Given the description of an element on the screen output the (x, y) to click on. 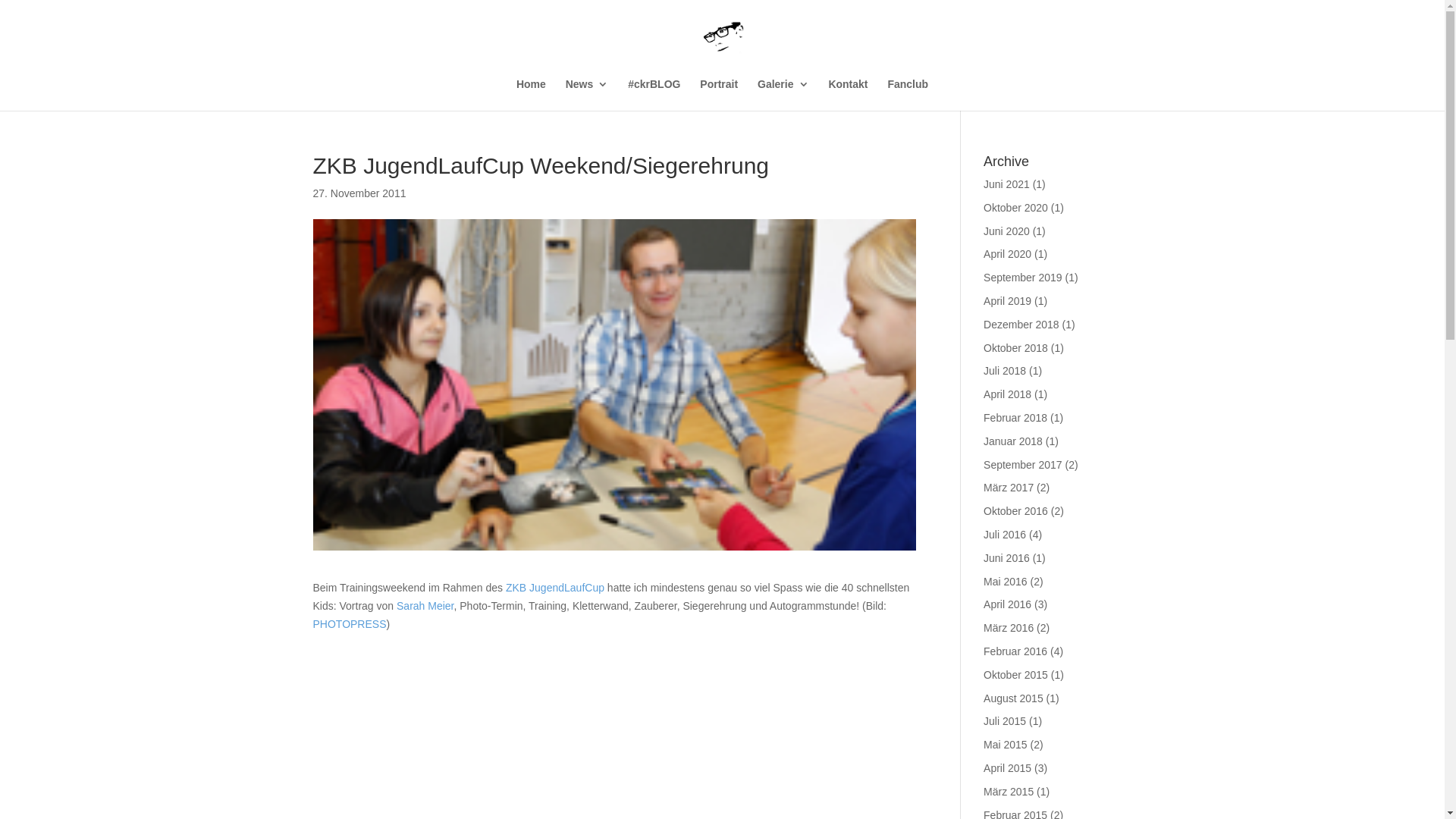
April 2020 Element type: text (1007, 253)
September 2017 Element type: text (1022, 464)
Januar 2018 Element type: text (1012, 441)
Oktober 2015 Element type: text (1015, 674)
News Element type: text (586, 94)
Kontakt Element type: text (847, 94)
April 2018 Element type: text (1007, 394)
Mai 2015 Element type: text (1005, 744)
Galerie Element type: text (782, 94)
April 2019 Element type: text (1007, 300)
Fanclub Element type: text (907, 94)
Oktober 2018 Element type: text (1015, 348)
PHOTOPRESS Element type: text (348, 624)
Dezember 2018 Element type: text (1021, 324)
Home Element type: text (531, 94)
ZKB JugendLaufCup Element type: text (554, 587)
#ckrBLOG Element type: text (653, 94)
Februar 2016 Element type: text (1015, 651)
Portrait Element type: text (718, 94)
Oktober 2020 Element type: text (1015, 207)
Juli 2016 Element type: text (1004, 534)
April 2016 Element type: text (1007, 604)
Juli 2018 Element type: text (1004, 370)
August 2015 Element type: text (1013, 698)
Mai 2016 Element type: text (1005, 581)
Juni 2016 Element type: text (1006, 558)
Oktober 2016 Element type: text (1015, 511)
September 2019 Element type: text (1022, 277)
Sarah Meier Element type: text (424, 605)
Juni 2020 Element type: text (1006, 231)
Februar 2018 Element type: text (1015, 417)
Juli 2015 Element type: text (1004, 721)
April 2015 Element type: text (1007, 768)
Juni 2021 Element type: text (1006, 184)
